Given the description of an element on the screen output the (x, y) to click on. 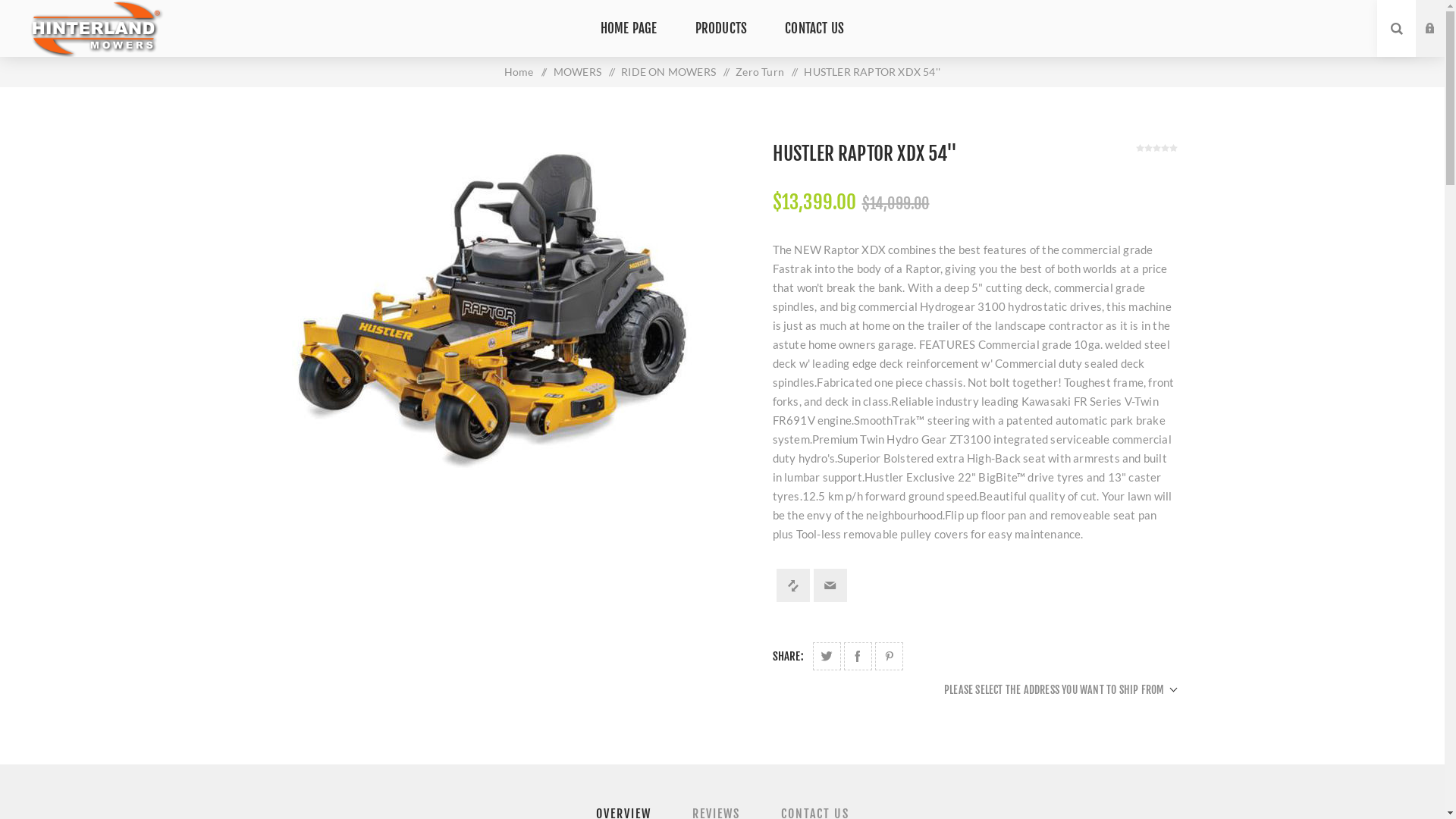
Search Element type: text (1396, 28)
SHARE ON FACEBOOK Element type: text (858, 656)
PLEASE SELECT THE ADDRESS YOU WANT TO SHIP FROM Element type: text (1060, 689)
CONTACT US Element type: text (813, 28)
SHARE ON TWITTER Element type: text (826, 656)
Add to compare list Element type: text (792, 585)
Email a friend Element type: text (829, 585)
MOWERS Element type: text (577, 71)
Email a friend Element type: hover (829, 585)
Home Element type: text (518, 71)
Add to compare list Element type: hover (792, 585)
SHARE ON PINTEREST Element type: text (889, 656)
HOME PAGE Element type: text (628, 28)
Zero Turn Element type: text (759, 71)
RIDE ON MOWERS Element type: text (668, 71)
